Given the description of an element on the screen output the (x, y) to click on. 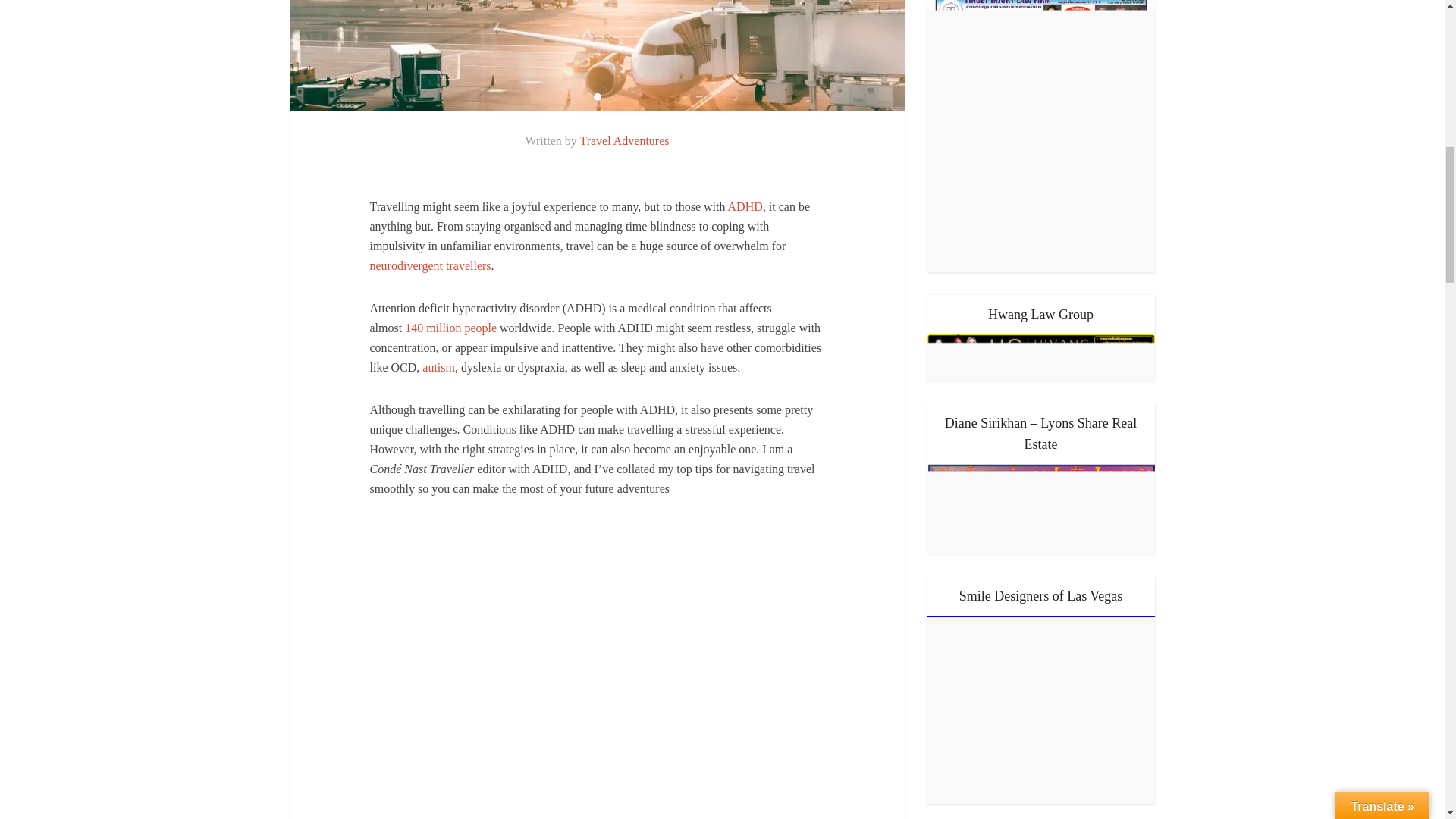
autism (438, 367)
ADHD (745, 205)
140 million people (450, 327)
A guide to flying if you have ADHD (596, 55)
neurodivergent travellers (430, 265)
Travel Adventures (623, 140)
